Given the description of an element on the screen output the (x, y) to click on. 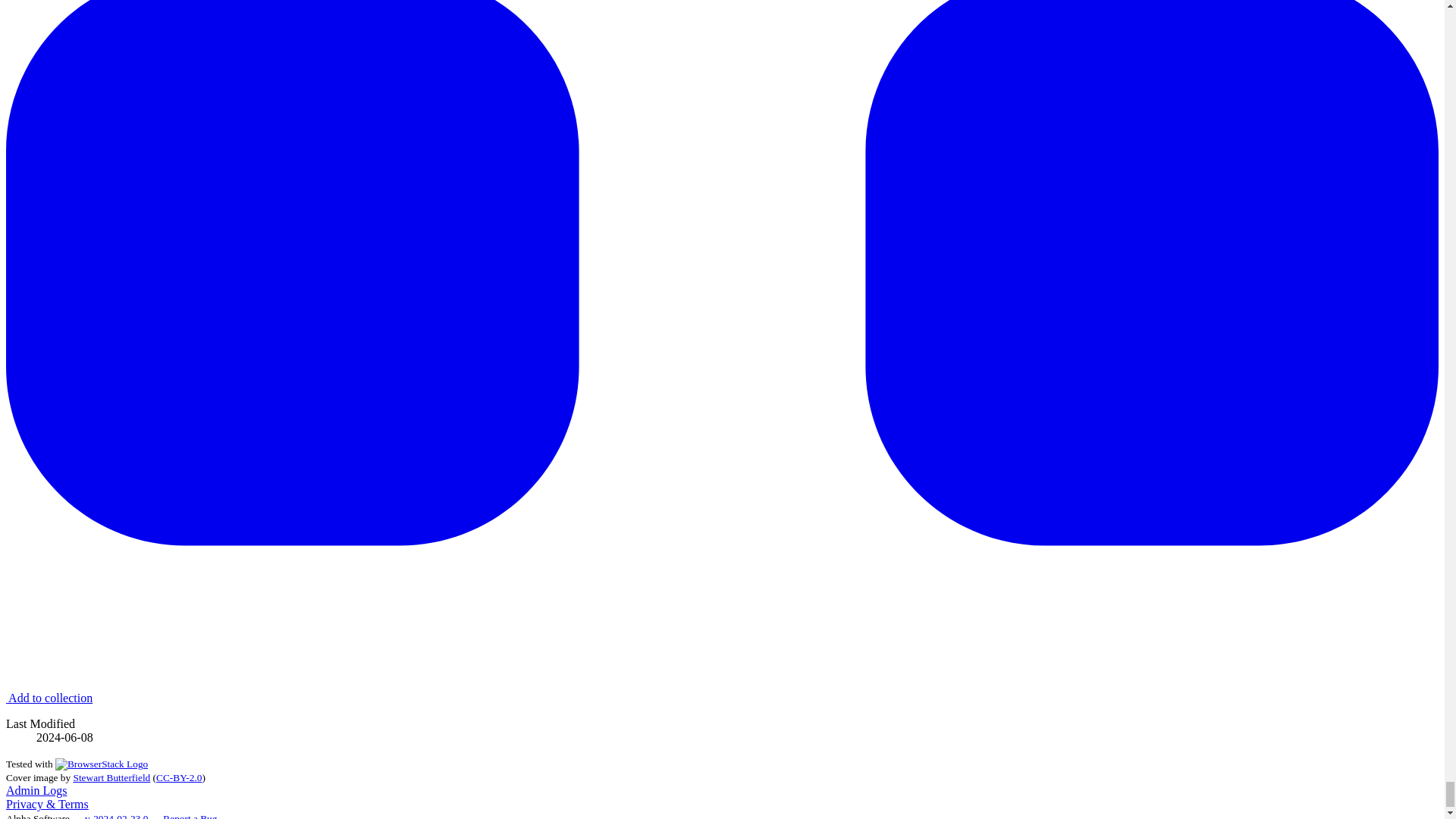
CC-BY-2.0 (178, 777)
Stewart Butterfield (110, 777)
Admin Logs (35, 789)
